Given the description of an element on the screen output the (x, y) to click on. 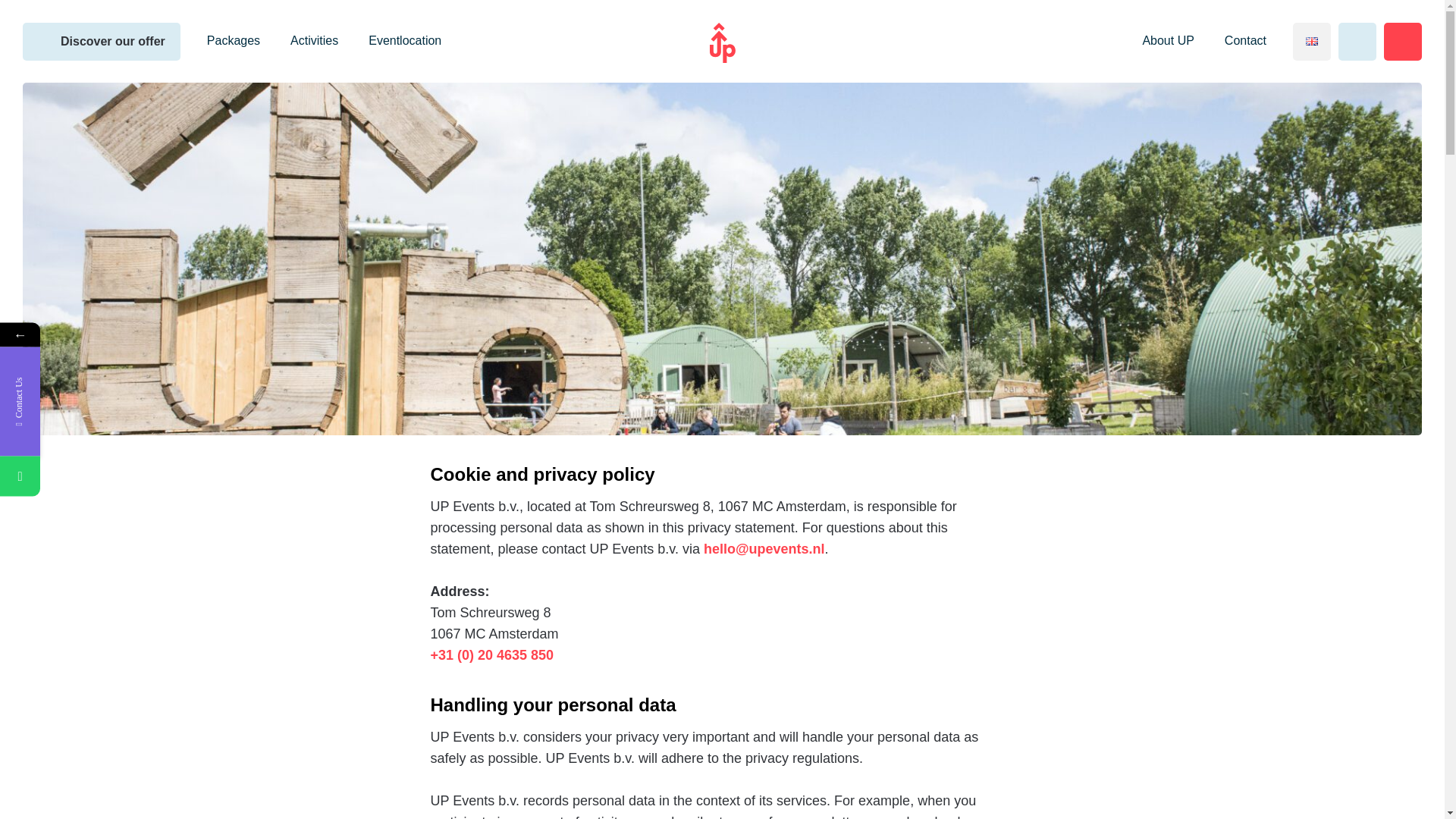
Activities (101, 41)
Contact (314, 40)
Go to "Contact" (1245, 40)
About UP (1403, 41)
Go to "Contact" (1167, 40)
Submit (1356, 41)
Eventlocation (196, 634)
WhatsApp (405, 40)
Bedrijfsfestival Amsterdam (92, 476)
